Given the description of an element on the screen output the (x, y) to click on. 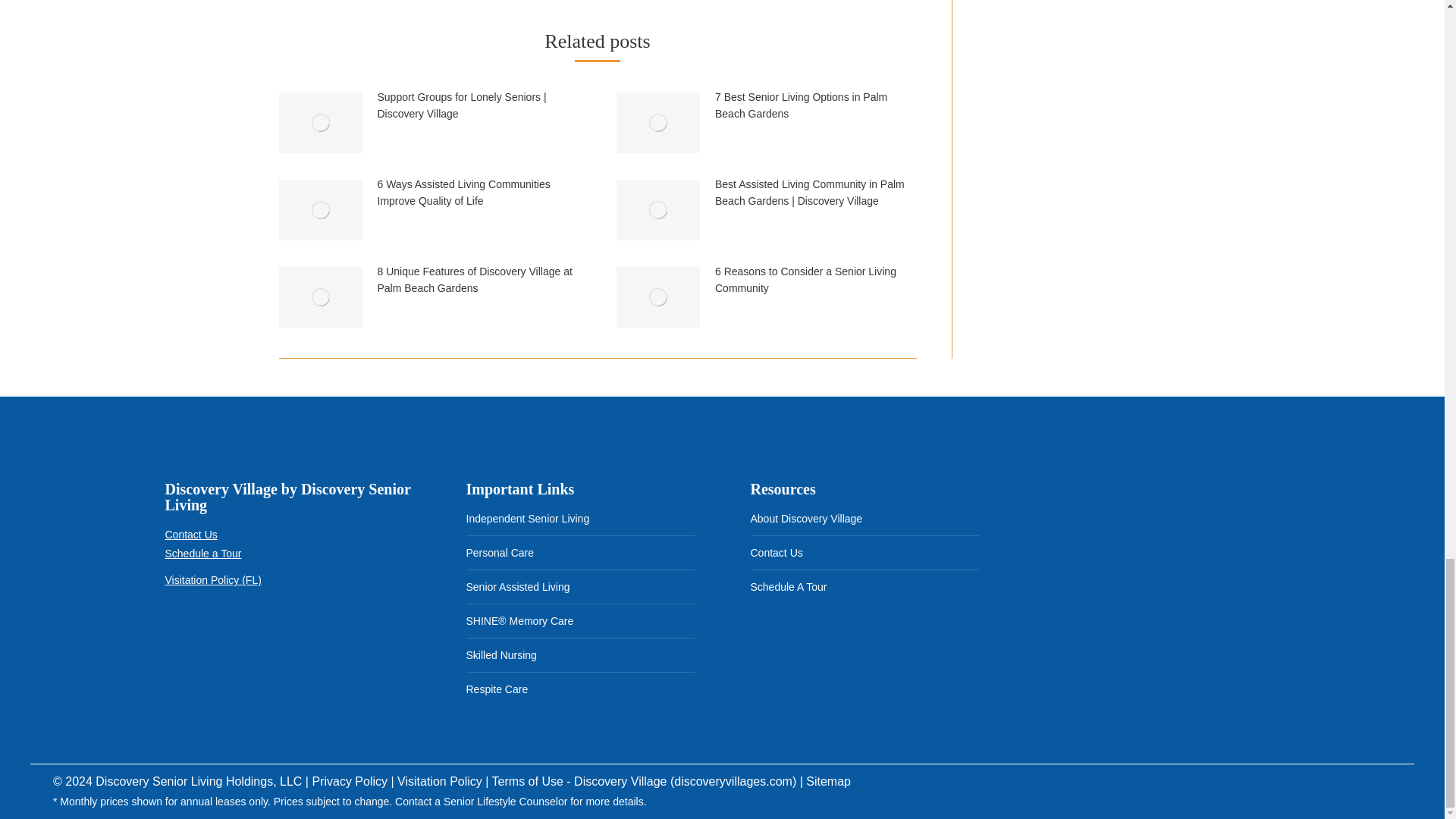
Equal-Housing-Opportunity-logo222 (189, 638)
Equal-Housing-Opportunity-logo22-150x144 (259, 639)
Discovery Map (1148, 567)
